Given the description of an element on the screen output the (x, y) to click on. 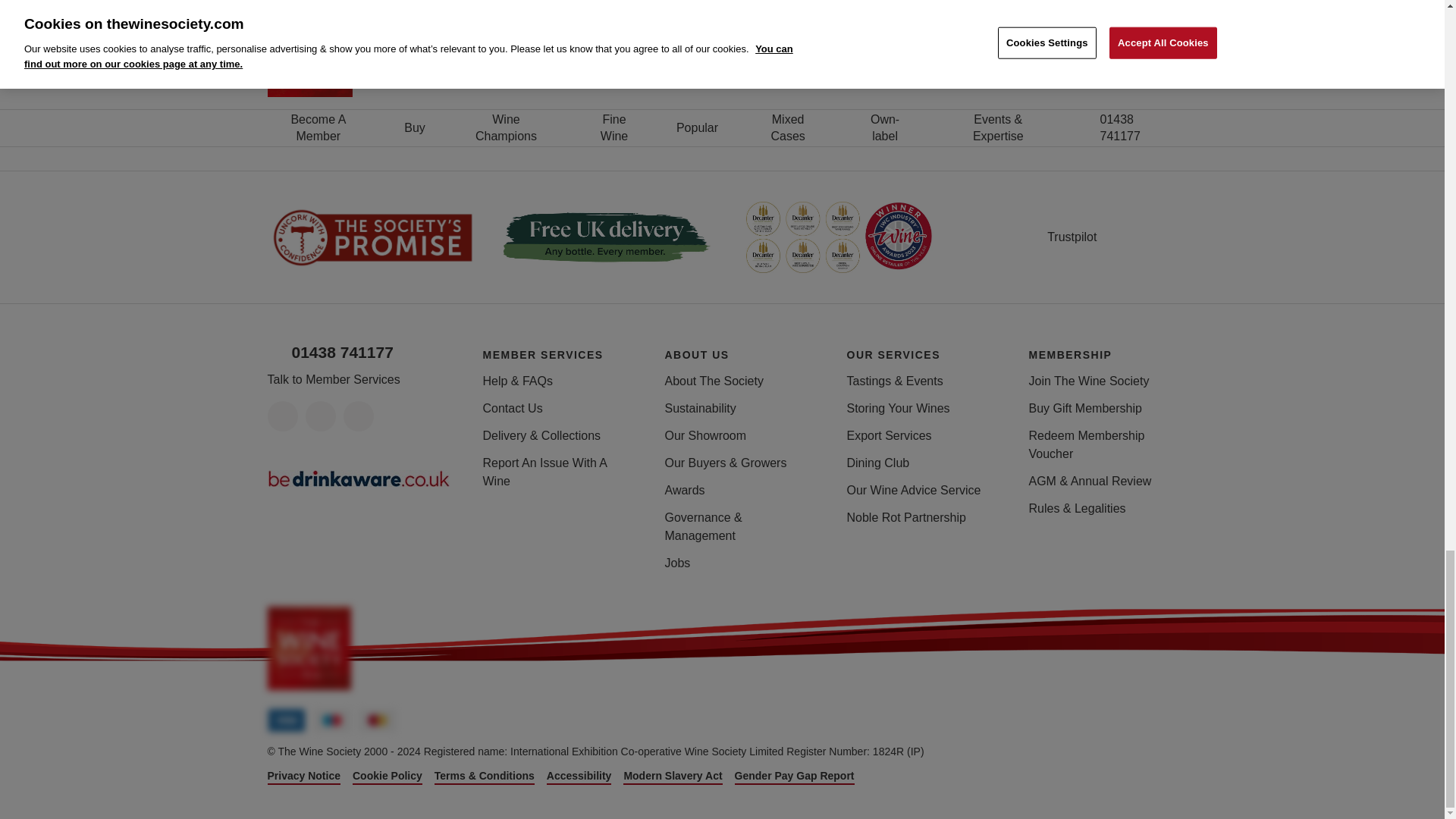
Mestro (331, 720)
Mastercard (377, 720)
Visa (285, 720)
